Given the description of an element on the screen output the (x, y) to click on. 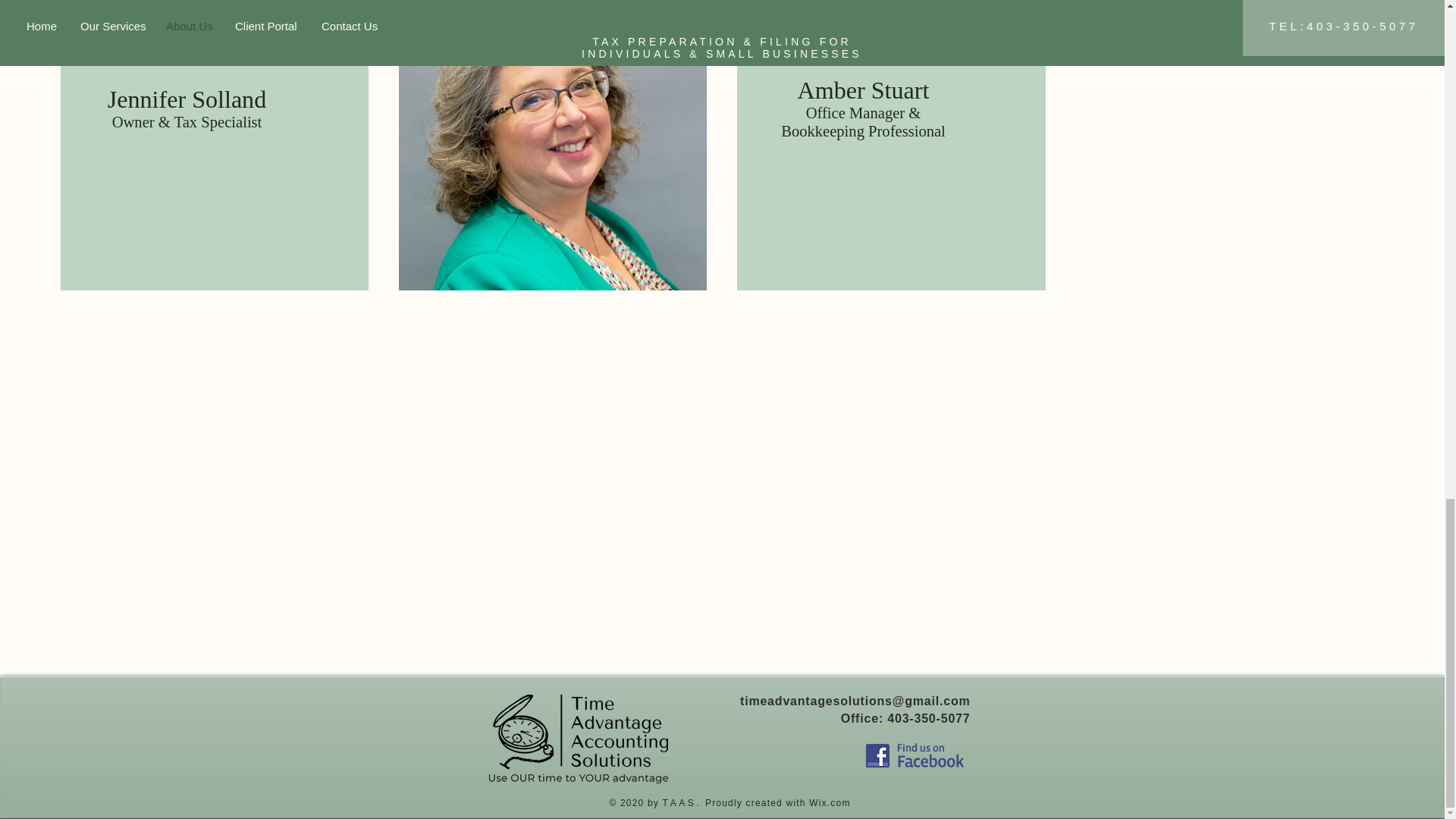
Wix.com (828, 802)
